Given the description of an element on the screen output the (x, y) to click on. 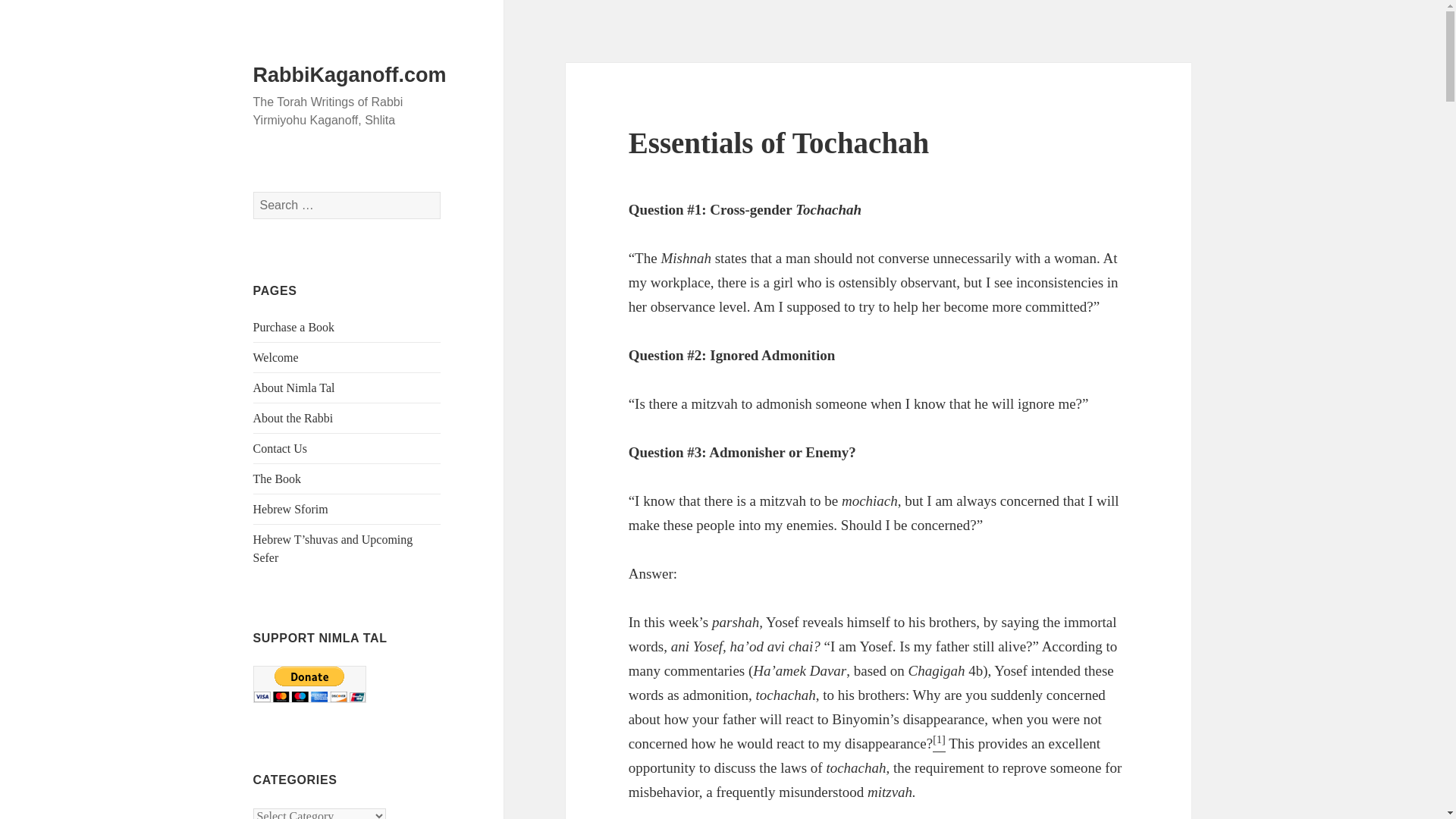
The Book (277, 478)
About Nimla Tal (293, 387)
About the Rabbi (293, 418)
Welcome (275, 357)
RabbiKaganoff.com (349, 74)
Contact Us (280, 448)
Hebrew Sforim (291, 508)
Purchase a Book (293, 327)
